Given the description of an element on the screen output the (x, y) to click on. 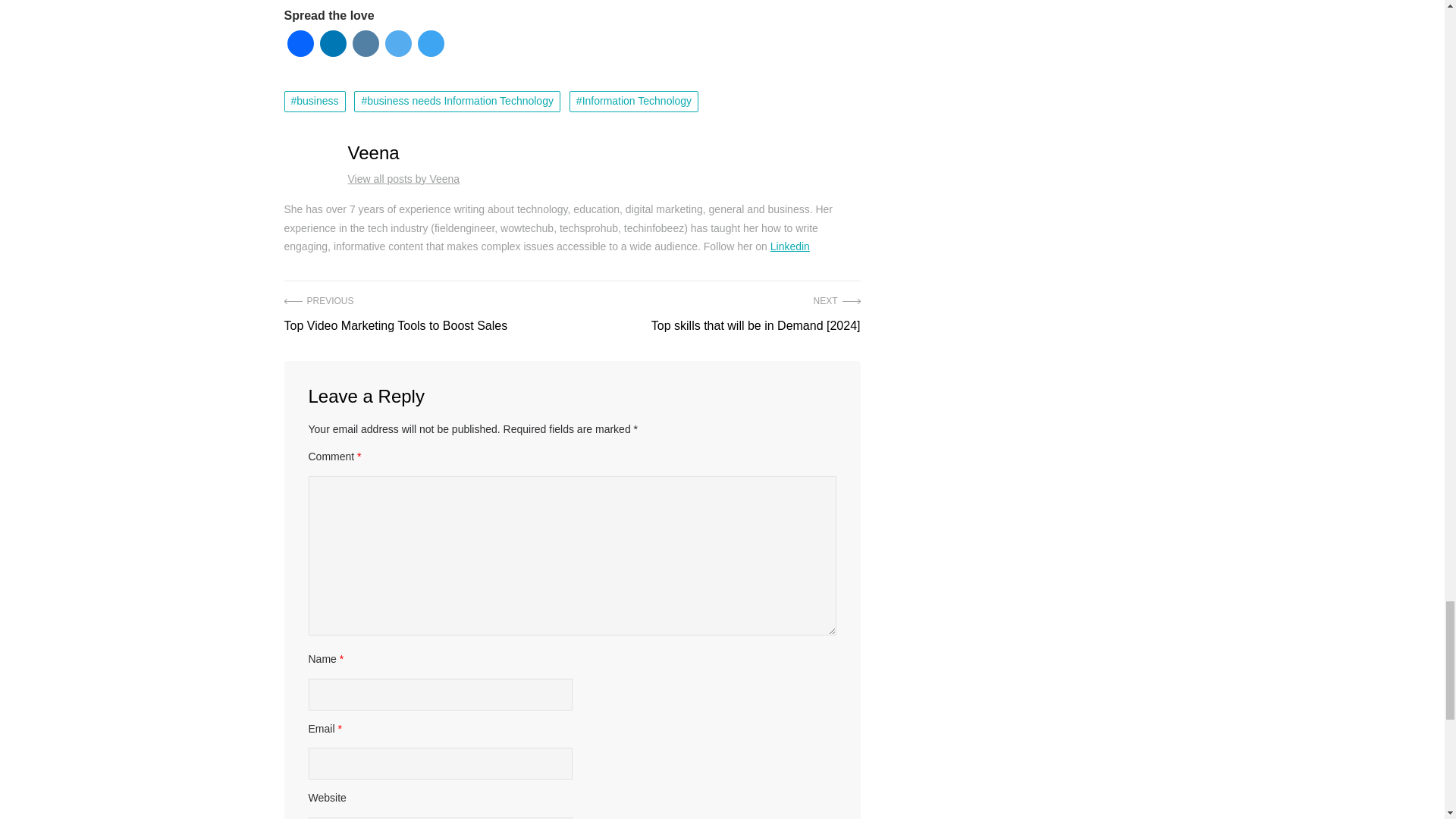
Information Technology (633, 101)
View all posts by Veena (403, 178)
business needs Information Technology (456, 101)
Linkedin (789, 246)
business (314, 101)
